Given the description of an element on the screen output the (x, y) to click on. 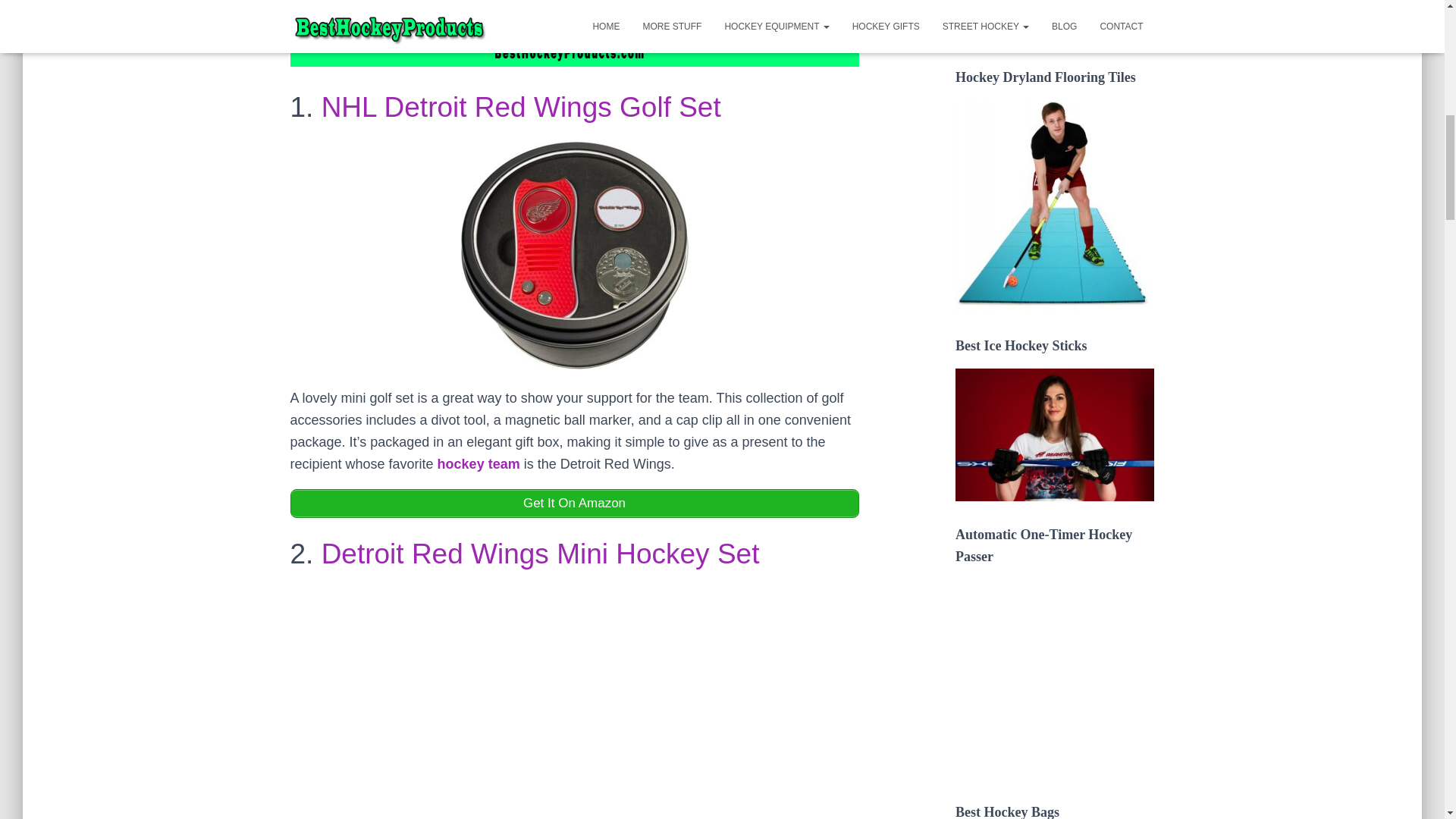
Get It On Amazon (574, 502)
Detroit Red Wings Mini Hockey Set (540, 553)
hockey team (478, 463)
NHL Detroit Red Wings Golf Set (520, 106)
